Given the description of an element on the screen output the (x, y) to click on. 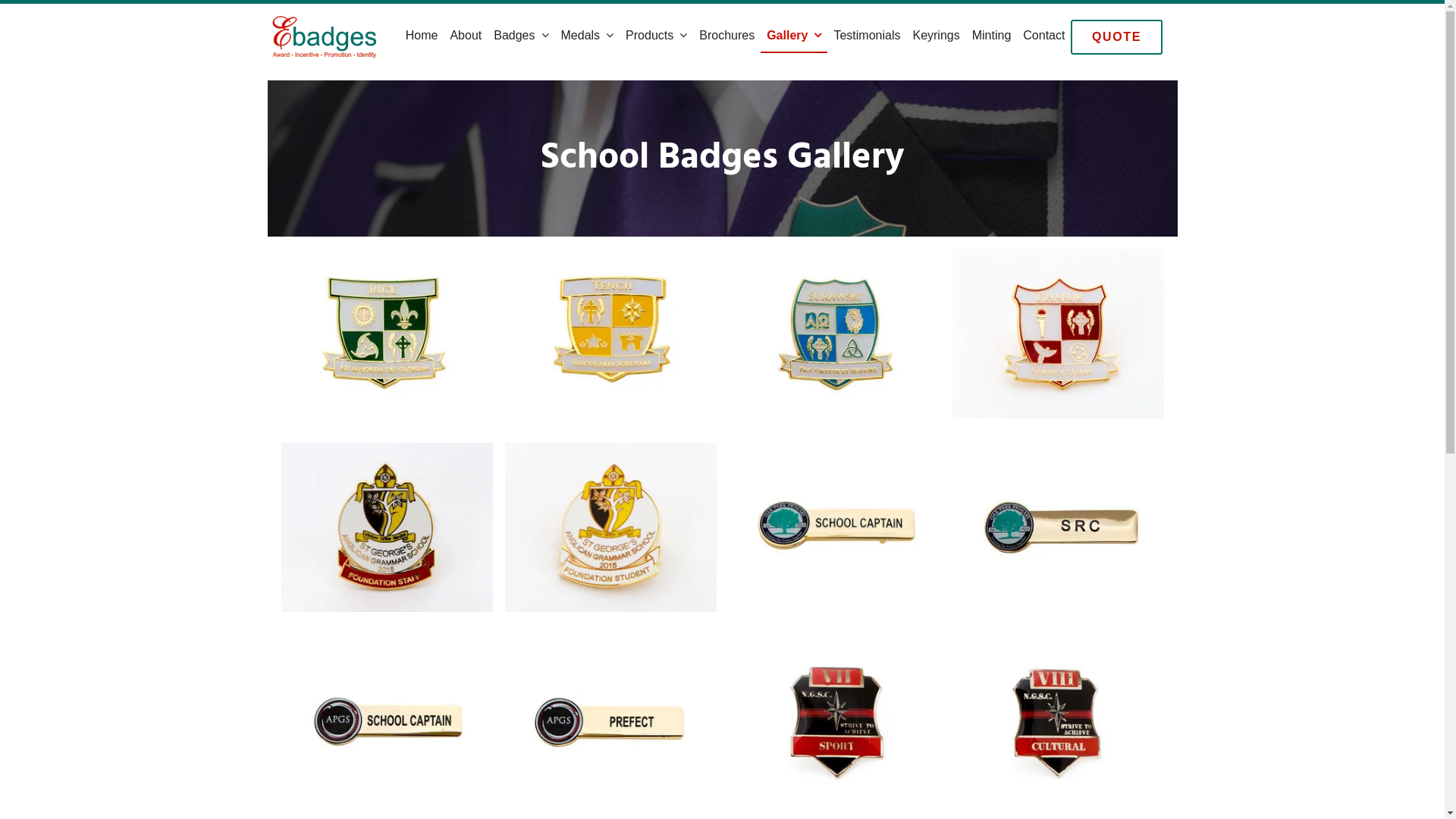
About Element type: text (465, 36)
Testimonials Element type: text (866, 36)
Gallery Element type: text (793, 36)
QUOTE Element type: text (1115, 36)
Minting Element type: text (991, 36)
Brochures Element type: text (726, 36)
Badges Element type: text (520, 36)
Contact Element type: text (1043, 36)
Keyrings Element type: text (935, 36)
Home Element type: text (421, 36)
Products Element type: text (656, 36)
Medals Element type: text (587, 36)
